Given the description of an element on the screen output the (x, y) to click on. 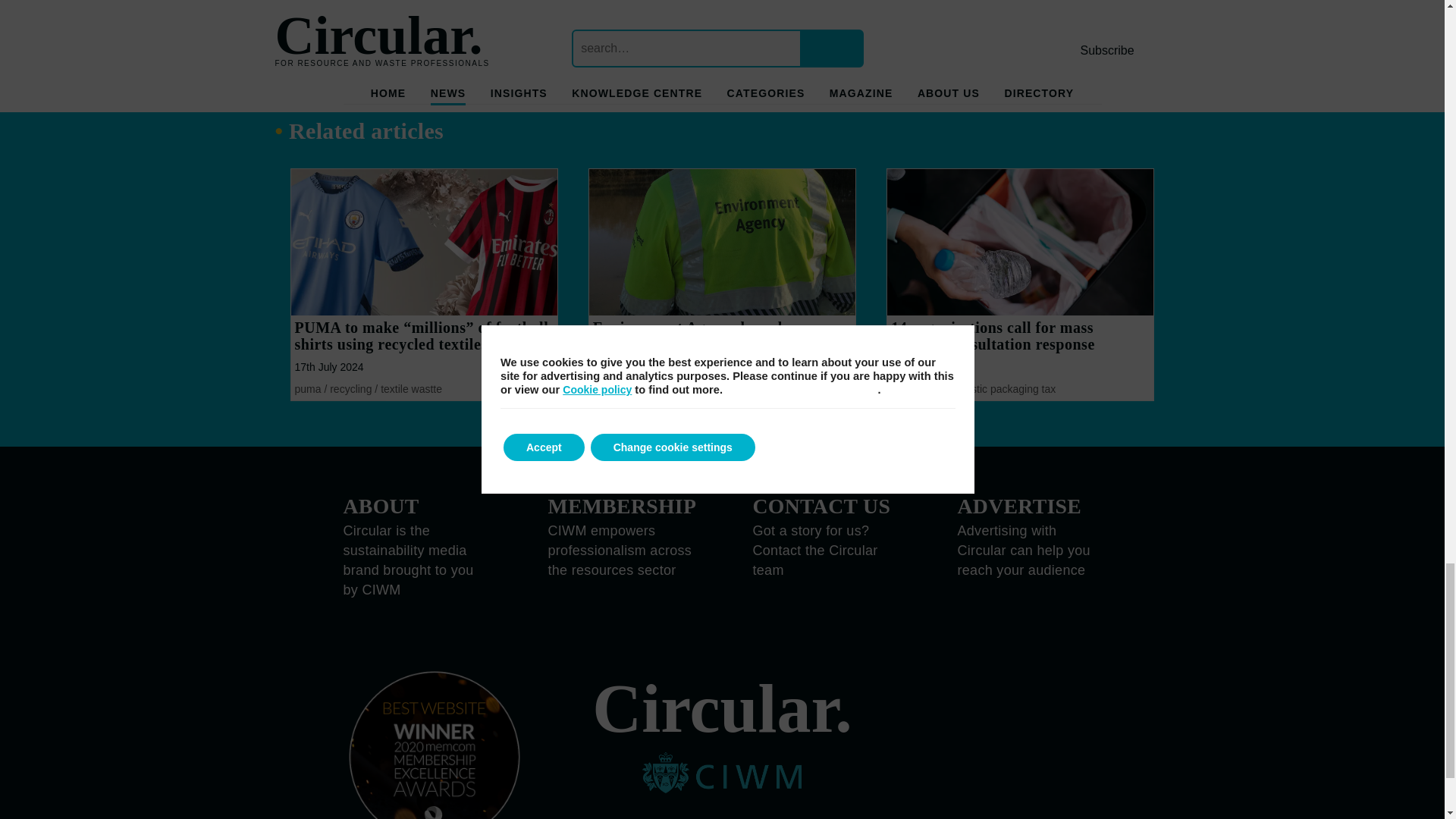
3rd party ad content (600, 22)
